Given the description of an element on the screen output the (x, y) to click on. 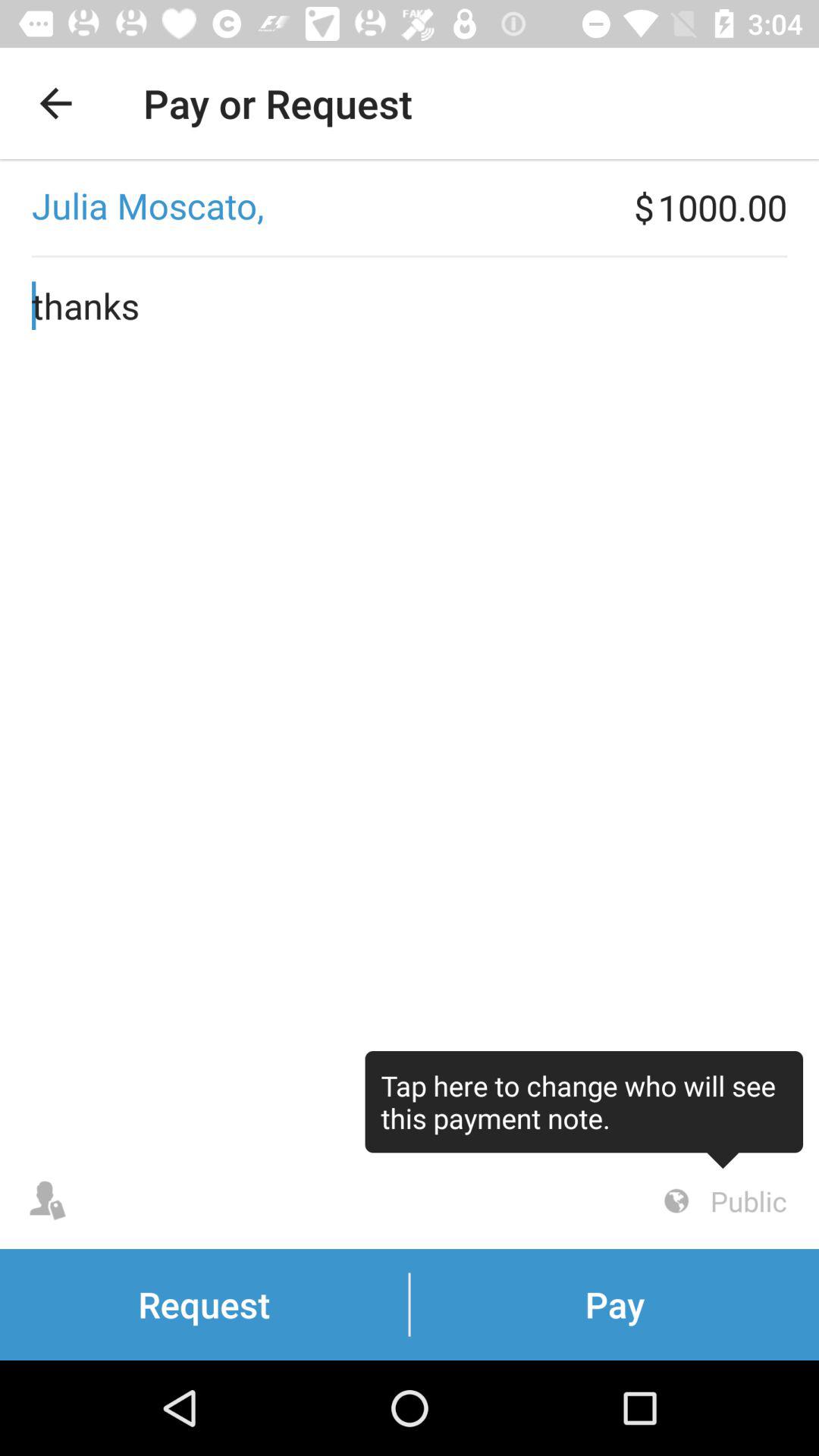
select icon at the center (409, 705)
